Given the description of an element on the screen output the (x, y) to click on. 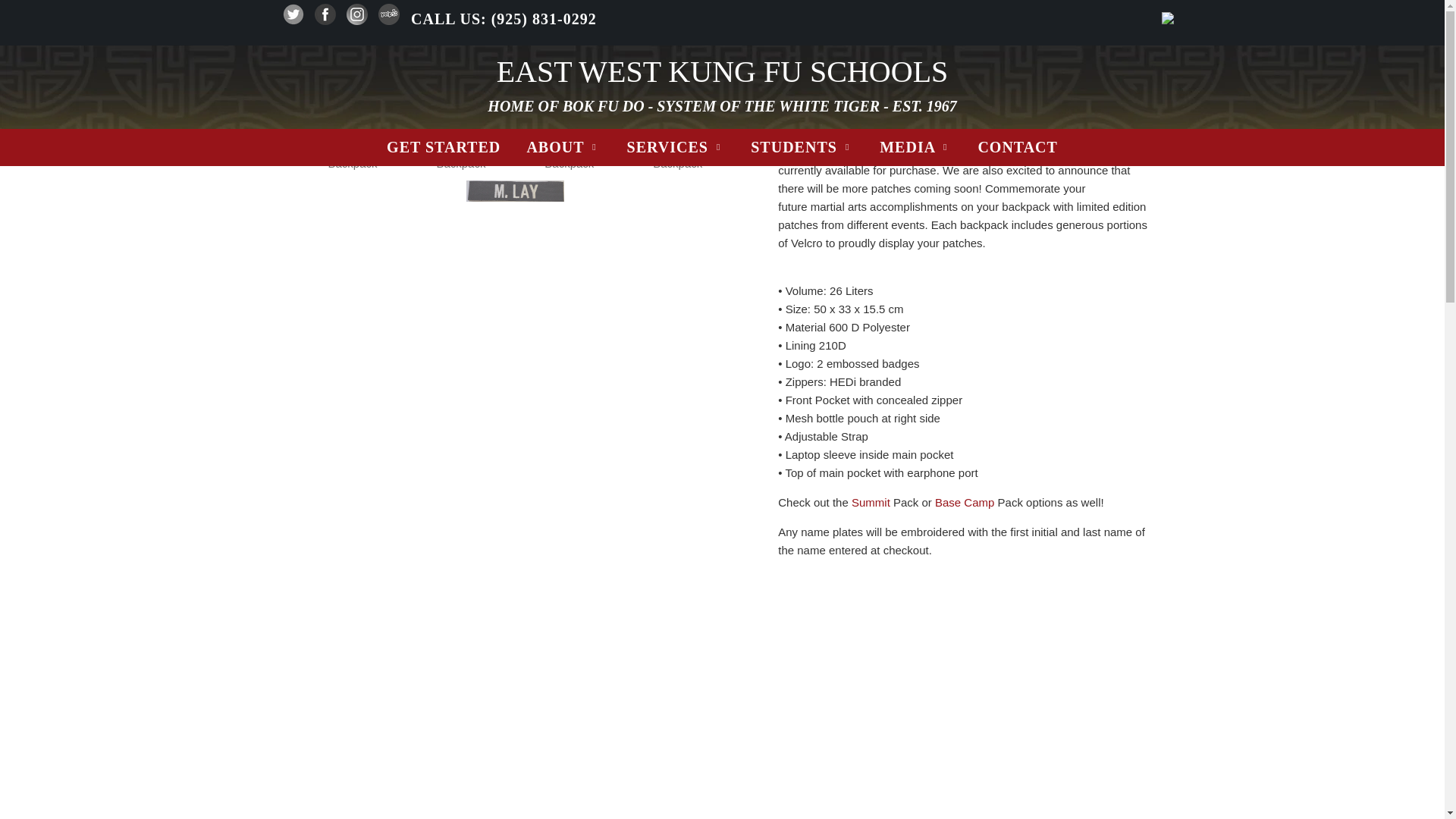
East West Kung Fu Schools on Yelp (388, 19)
East West Kung Fu Schools (721, 71)
East West Kung Fu Schools on Twitter (292, 19)
East West Kung Fu Schools on Instagram (357, 19)
East West Kung Fu Schools on Facebook (325, 19)
